Given the description of an element on the screen output the (x, y) to click on. 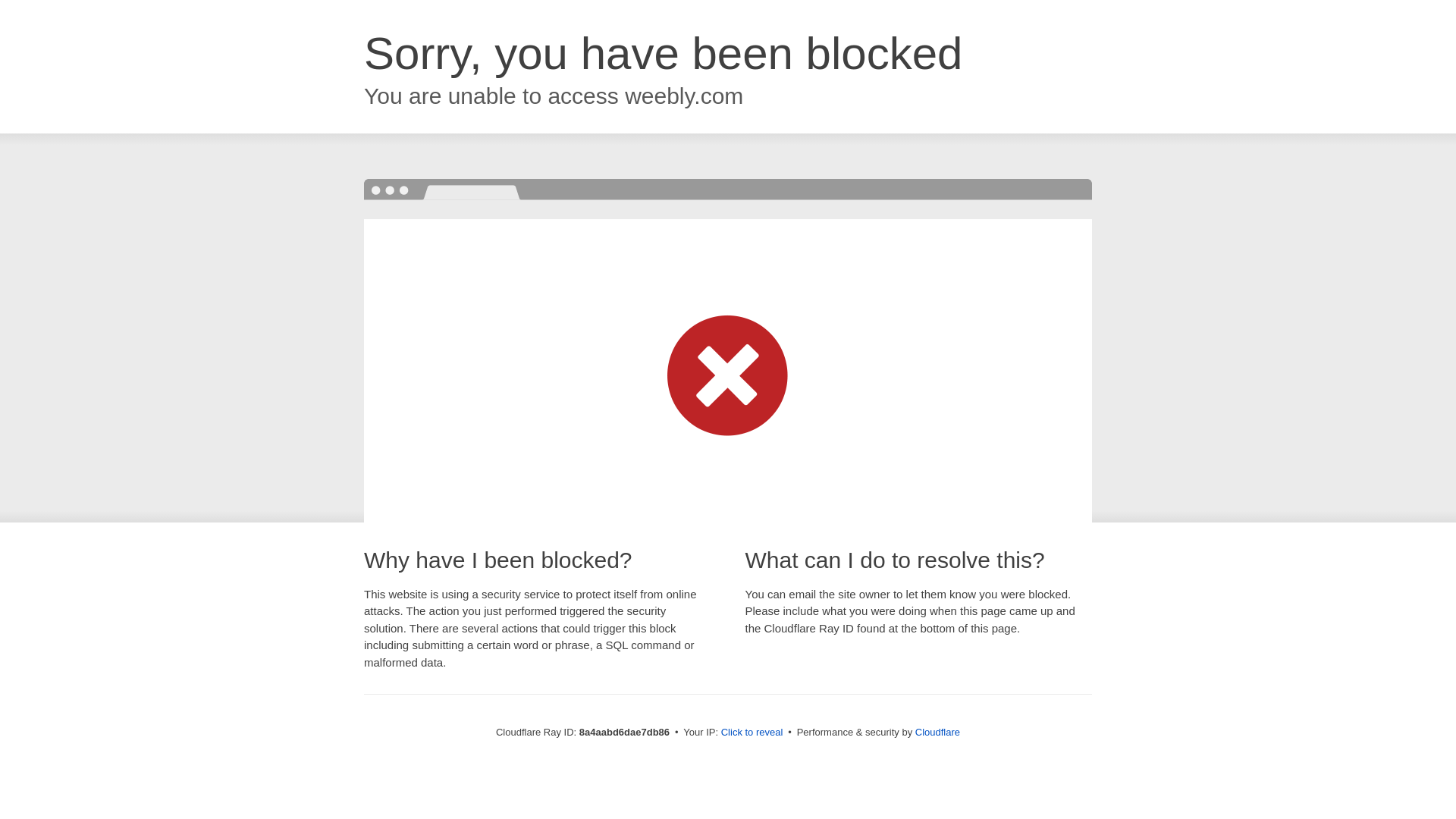
Click to reveal (751, 732)
Cloudflare (937, 731)
